Given the description of an element on the screen output the (x, y) to click on. 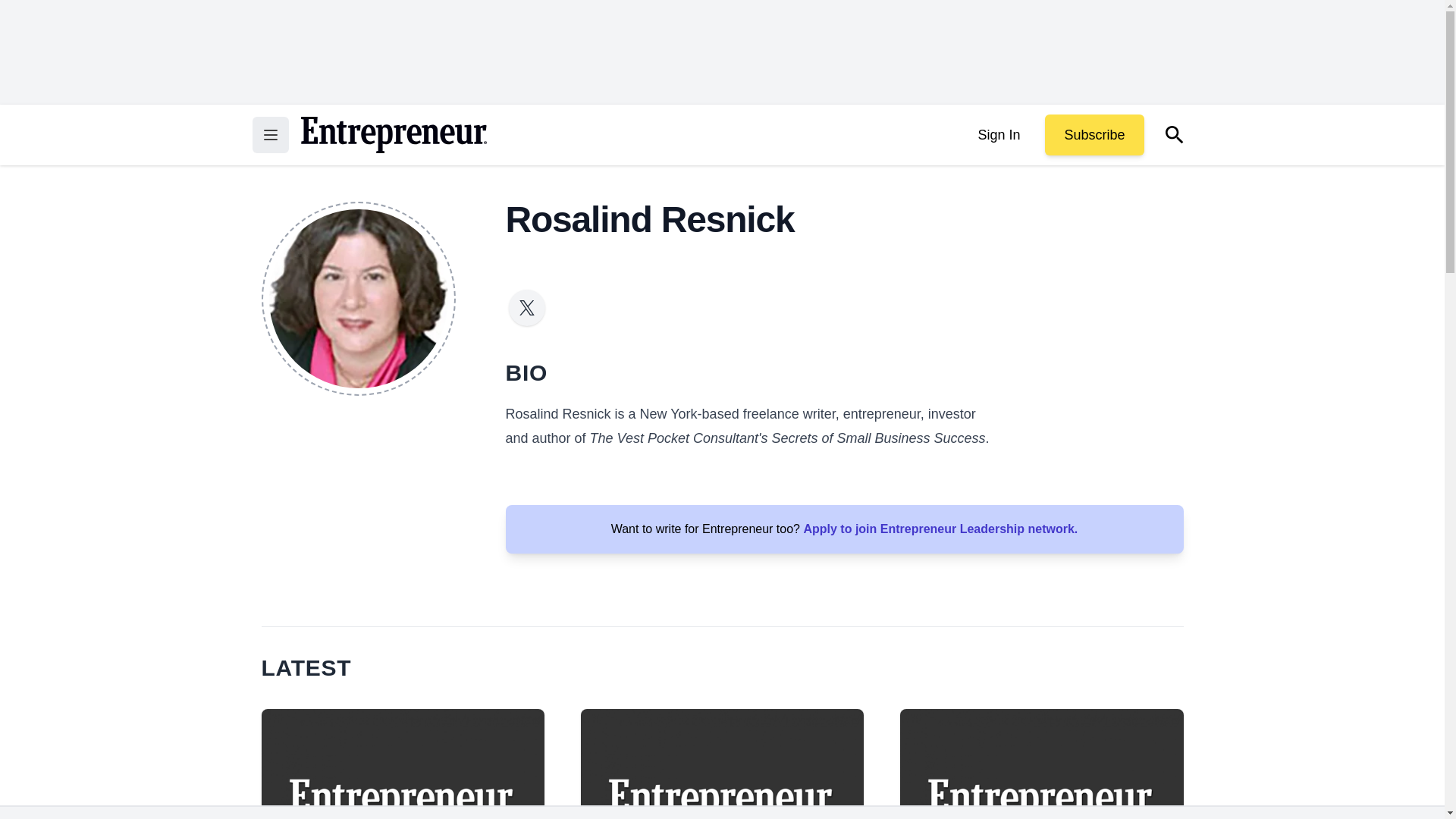
Return to the home page (392, 135)
Subscribe (1093, 134)
twitter (526, 307)
Sign In (998, 134)
